Given the description of an element on the screen output the (x, y) to click on. 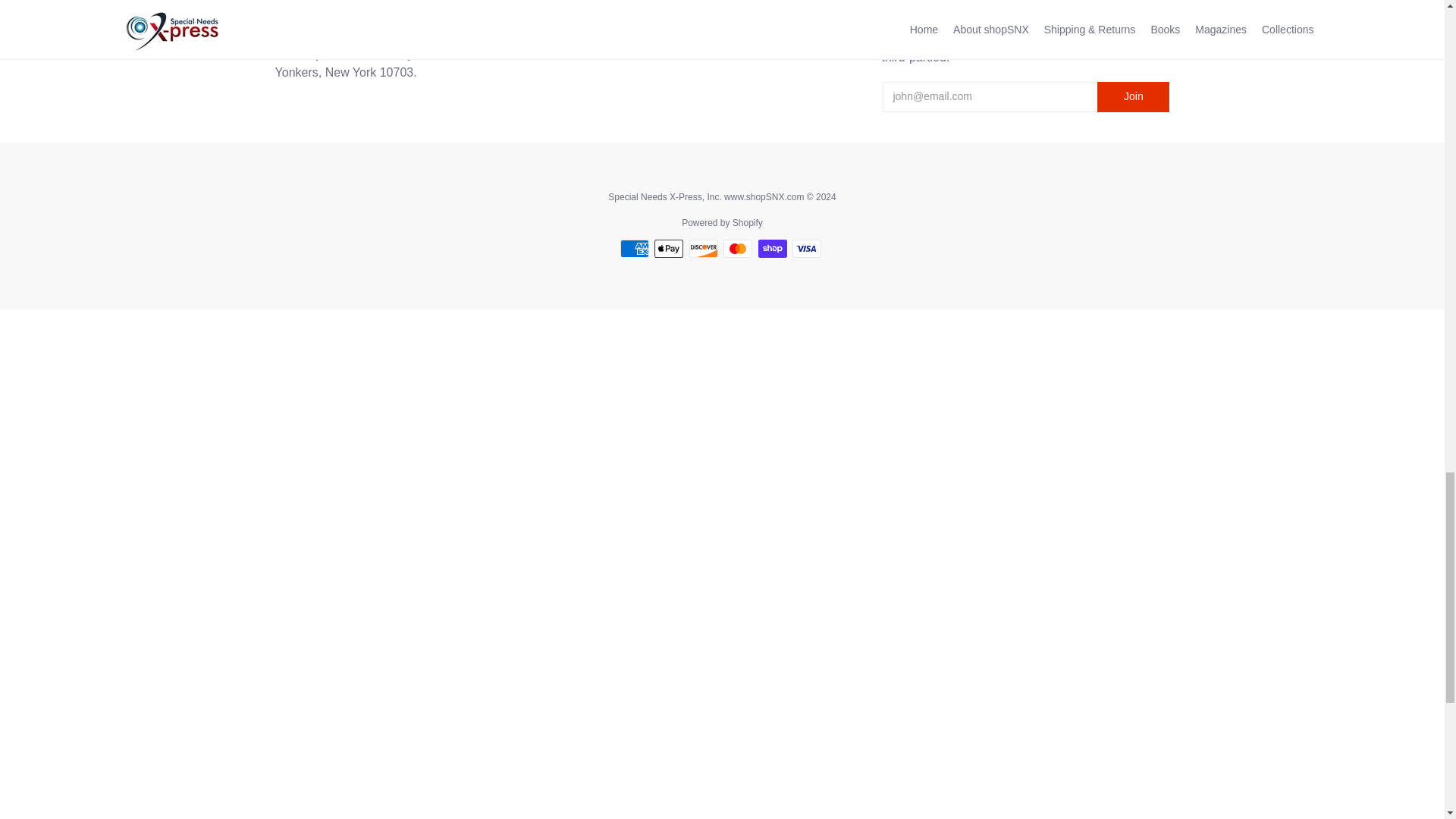
Shop Pay (772, 248)
Join (1133, 96)
Discover (702, 248)
Visa (806, 248)
Apple Pay (667, 248)
Mastercard (737, 248)
American Express (634, 248)
